Given the description of an element on the screen output the (x, y) to click on. 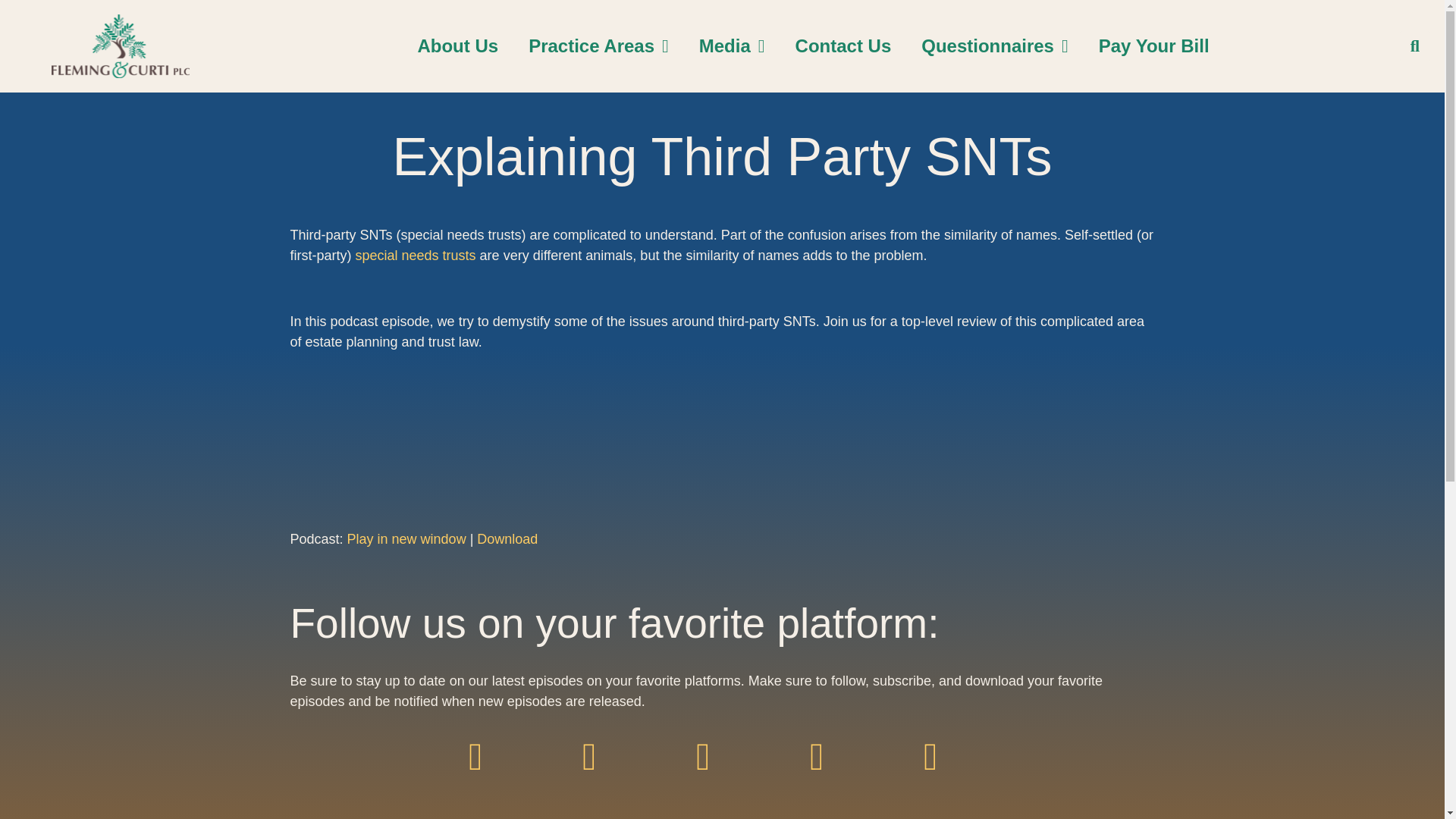
Amazon Podcasts (835, 775)
Blubrry Podcast Player (721, 460)
Pay Your Bill (1153, 46)
Apple Podcasts (494, 775)
Practice Areas (598, 46)
Spotify (608, 775)
Media (732, 46)
Google Play (722, 775)
Play in new window (406, 539)
Contact Us (843, 46)
